Given the description of an element on the screen output the (x, y) to click on. 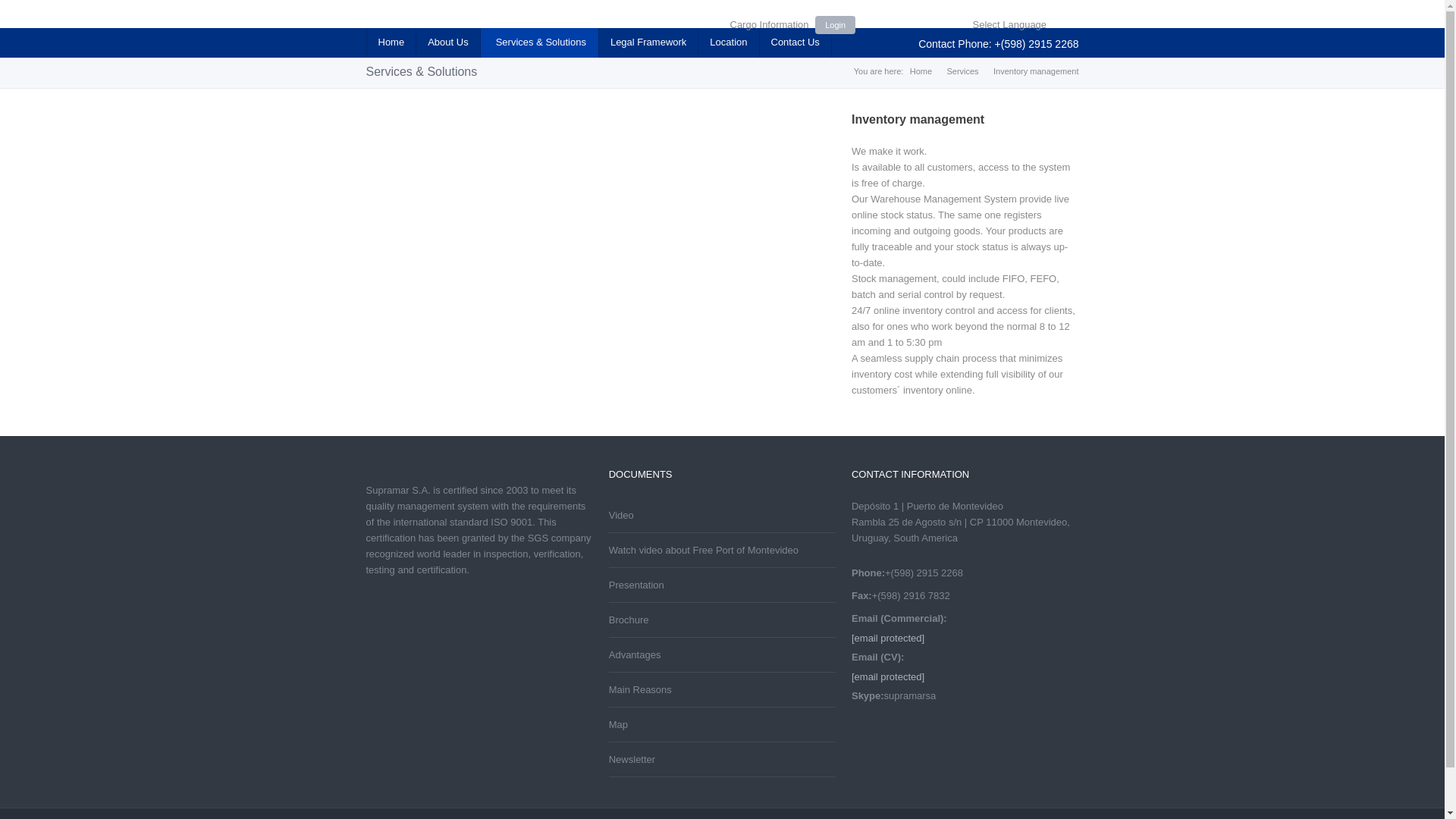
Legal Framework (647, 42)
Location (727, 42)
Home (389, 42)
Contact Us (794, 42)
Home (920, 71)
About Us (446, 42)
Login (835, 24)
